Given the description of an element on the screen output the (x, y) to click on. 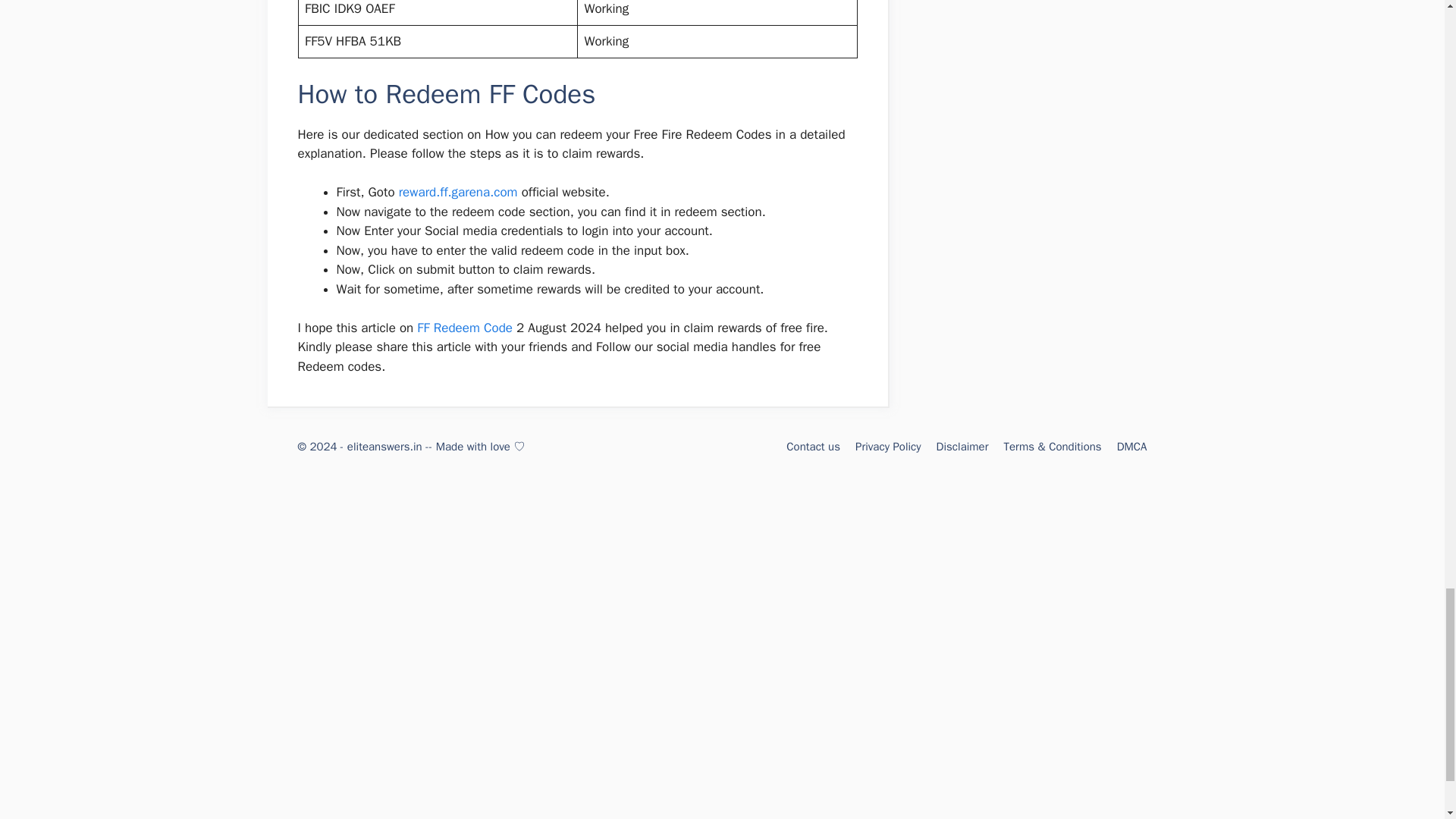
DMCA (1131, 446)
Disclaimer (962, 446)
reward.ff.garena.com (458, 191)
Privacy Policy (888, 446)
Contact us (813, 446)
FF Redeem Code (464, 327)
